Given the description of an element on the screen output the (x, y) to click on. 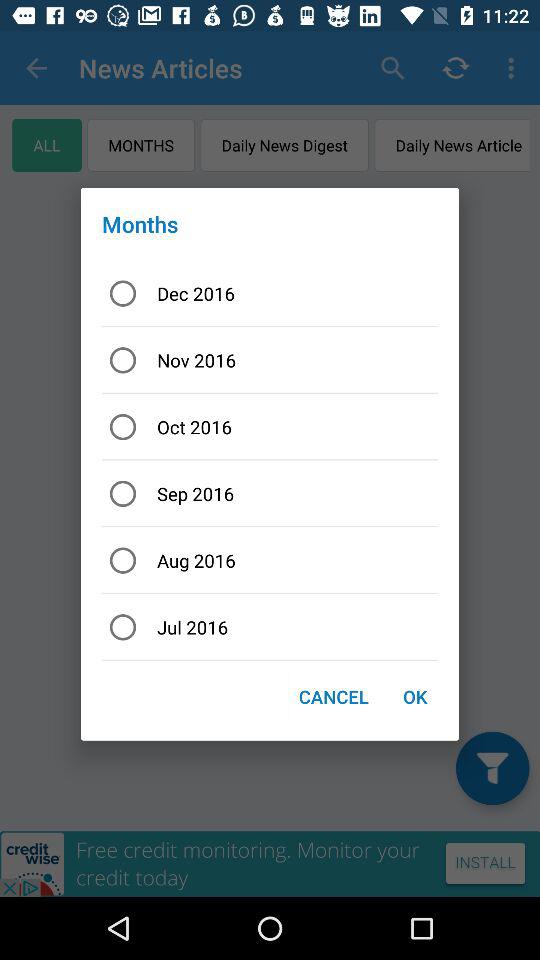
swipe to the sep 2016 item (269, 493)
